Given the description of an element on the screen output the (x, y) to click on. 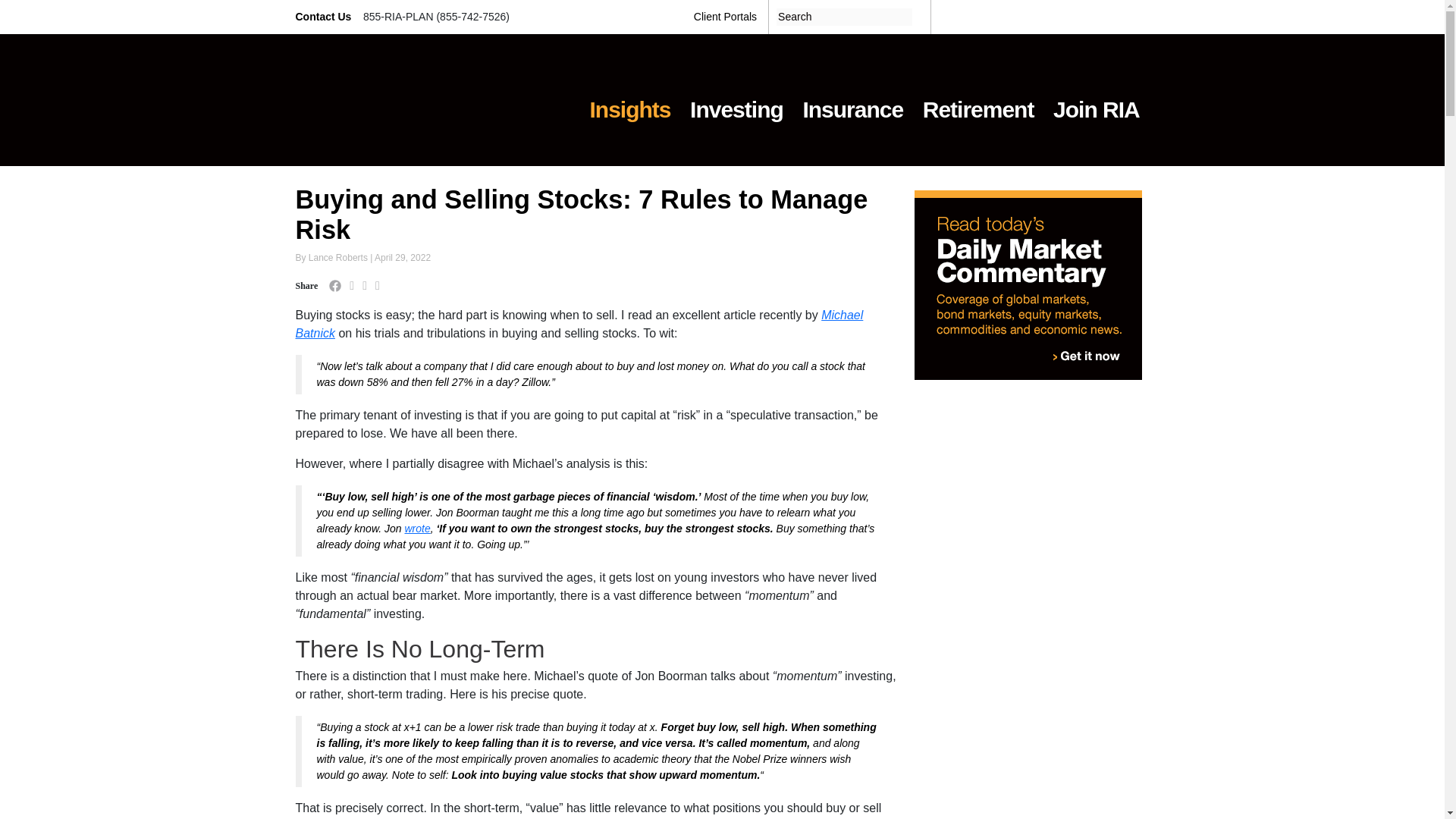
Investing (735, 99)
Client Portals (725, 16)
Insights (630, 99)
Contact Us (325, 16)
Join RIA (1095, 99)
Insurance (852, 99)
Retirement (977, 99)
